Given the description of an element on the screen output the (x, y) to click on. 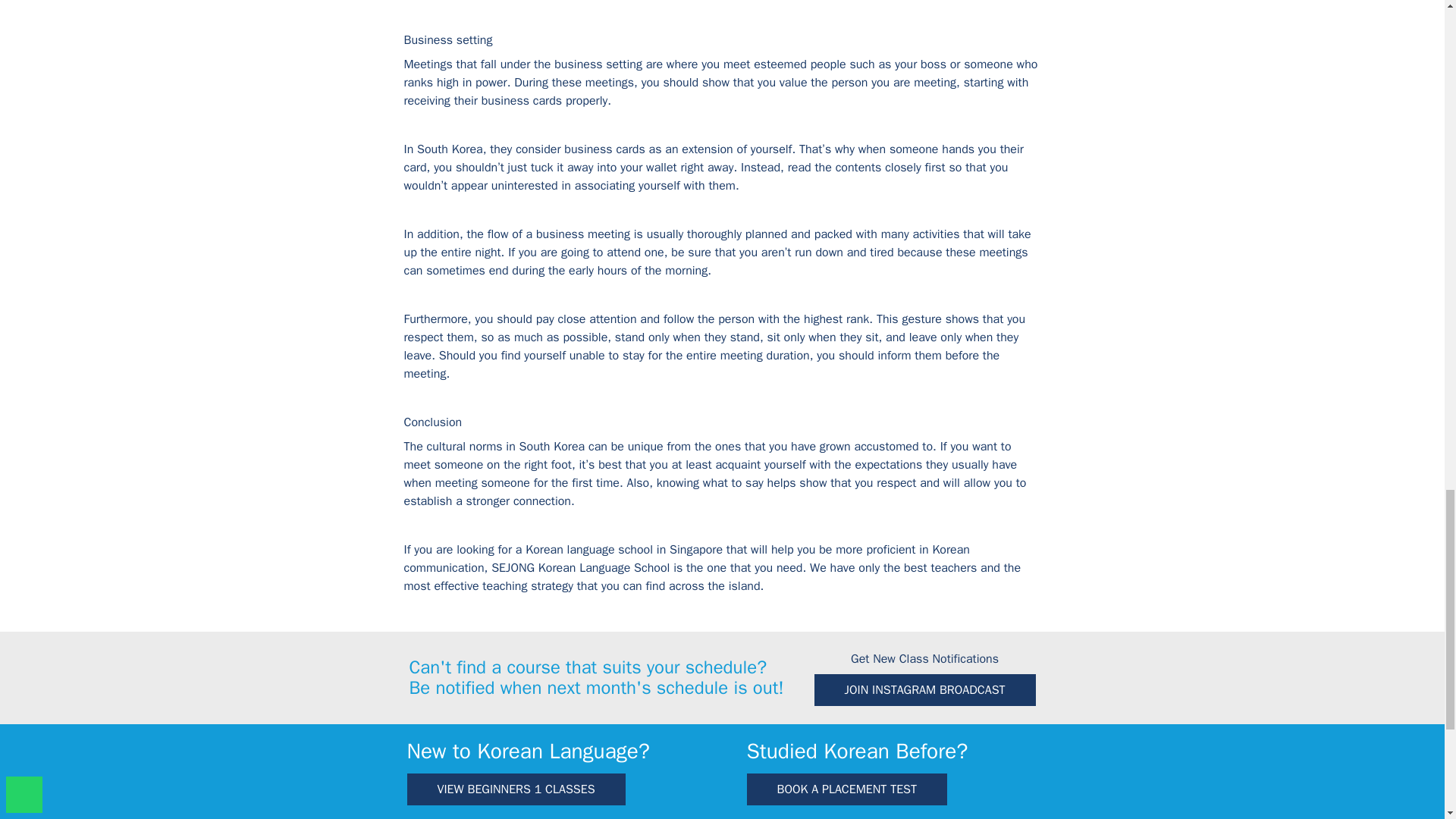
VIEW BEGINNERS 1 CLASSES (515, 789)
BOOK A PLACEMENT TEST (845, 789)
JOIN INSTAGRAM BROADCAST (924, 689)
